Given the description of an element on the screen output the (x, y) to click on. 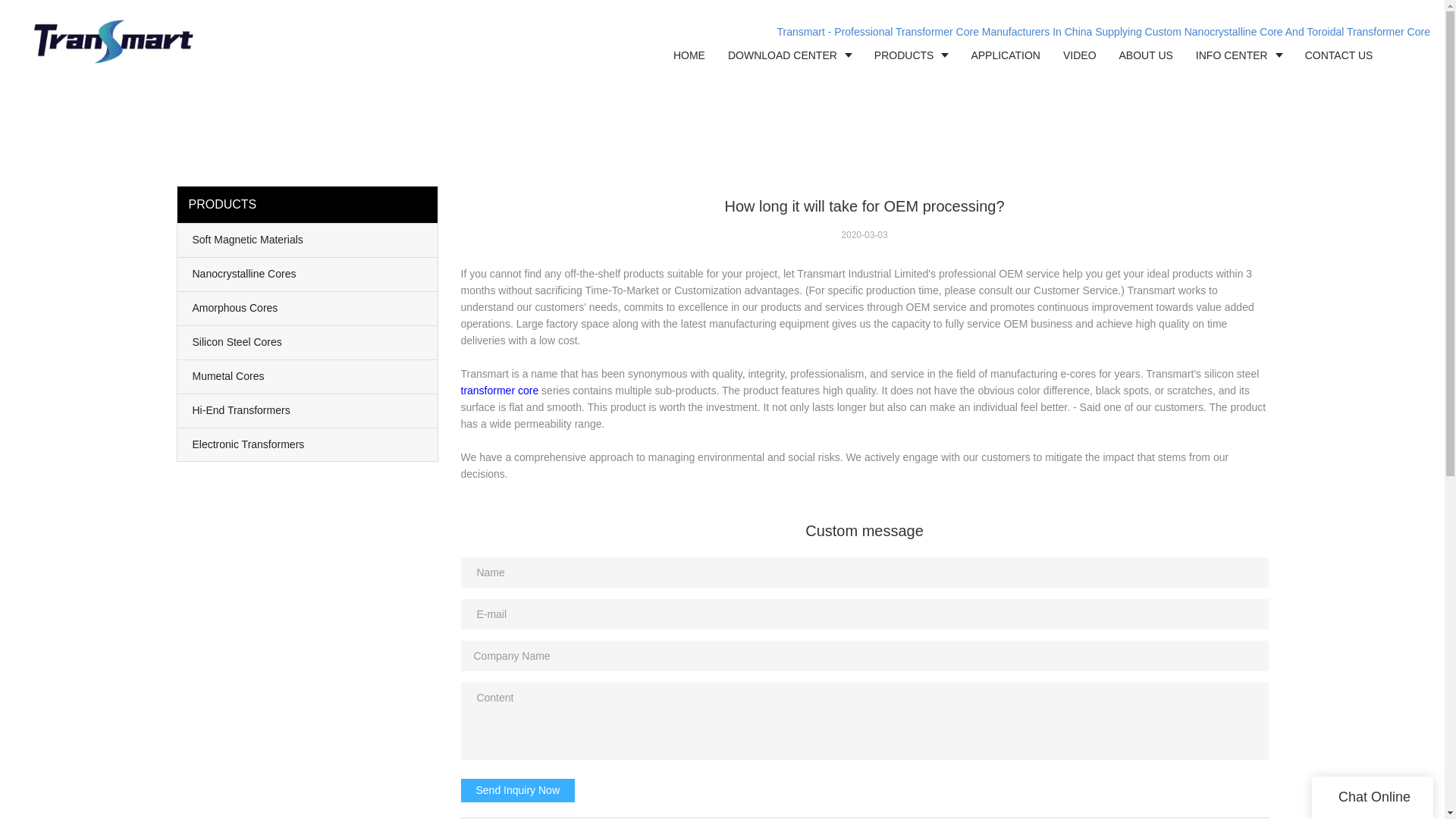
Soft Magnetic Materials (307, 240)
transformer core (499, 390)
INFO CENTER (1239, 55)
Amorphous Cores (307, 308)
ABOUT US (1146, 55)
Mumetal Cores (307, 376)
HOME (689, 55)
Hi-End Transformers (307, 410)
VIDEO (1079, 55)
Send Inquiry Now (518, 790)
DOWNLOAD CENTER (789, 55)
CONTACT US (1339, 55)
Electronic Transformers (307, 444)
PRODUCTS (911, 55)
APPLICATION (1005, 55)
